Given the description of an element on the screen output the (x, y) to click on. 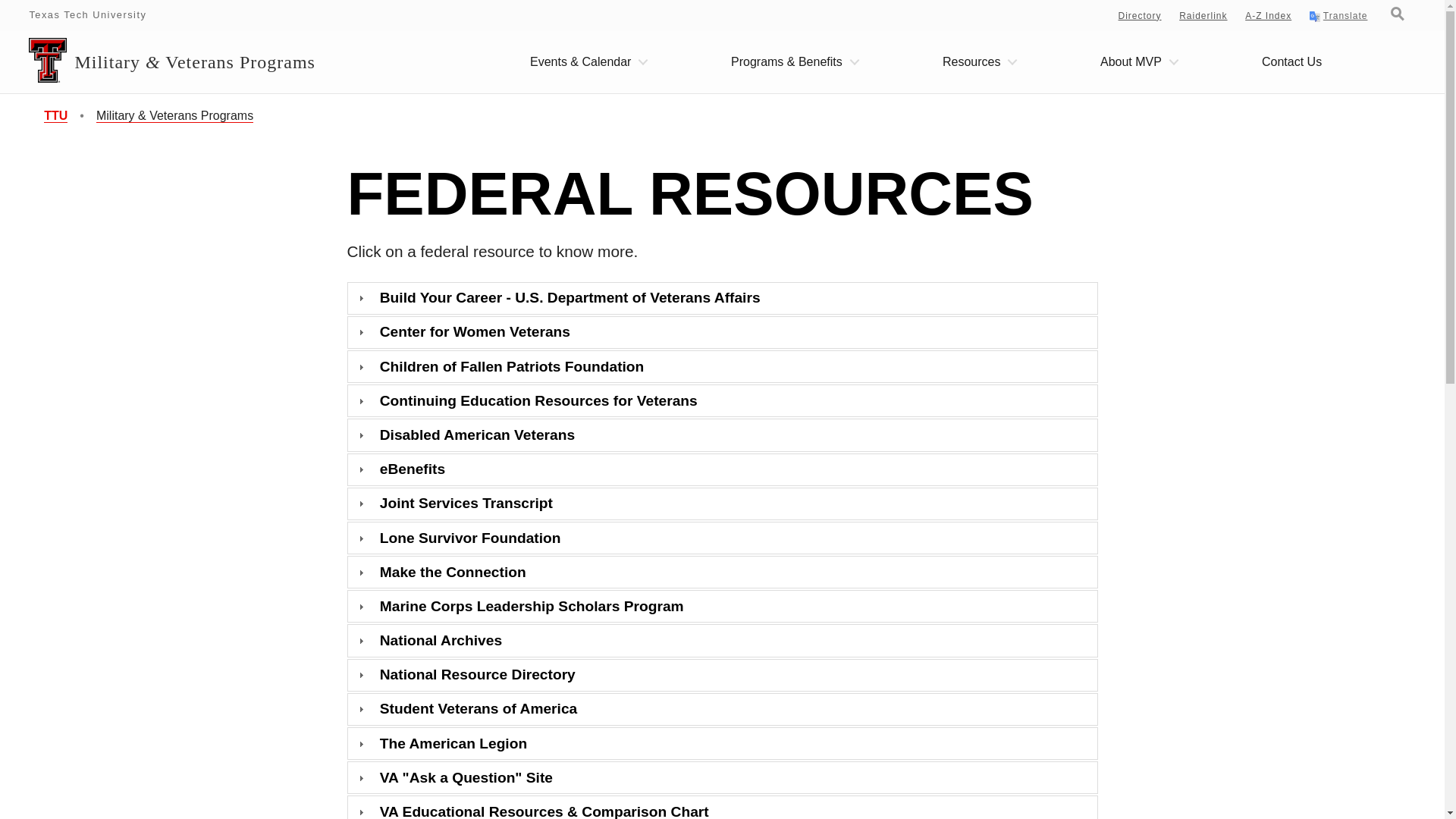
Raiderlink (1203, 15)
Translate (1338, 16)
Texas Tech University (88, 14)
Directory (1139, 15)
A-Z Index (1267, 15)
